Given the description of an element on the screen output the (x, y) to click on. 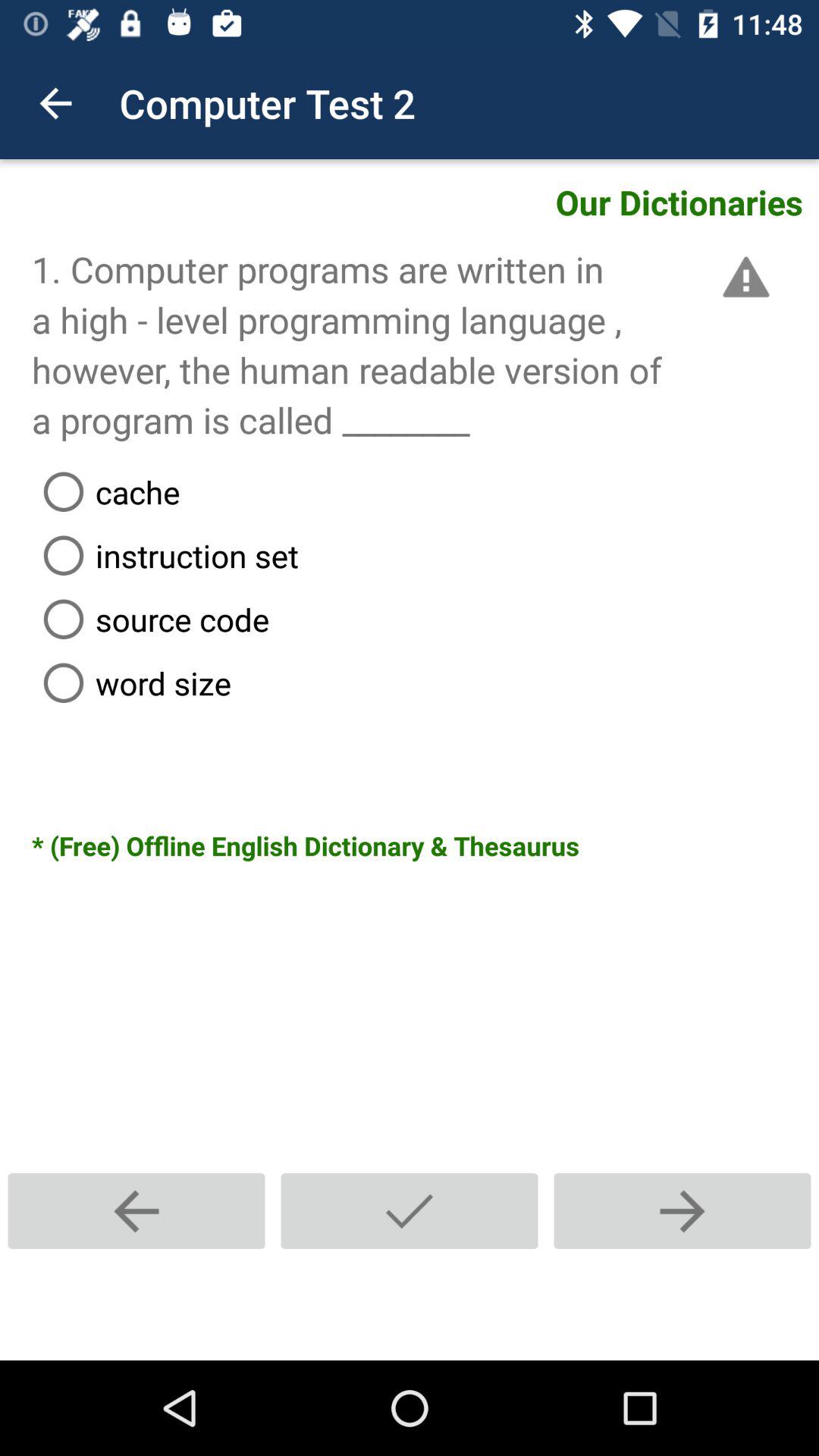
confirm answer (409, 1210)
